Given the description of an element on the screen output the (x, y) to click on. 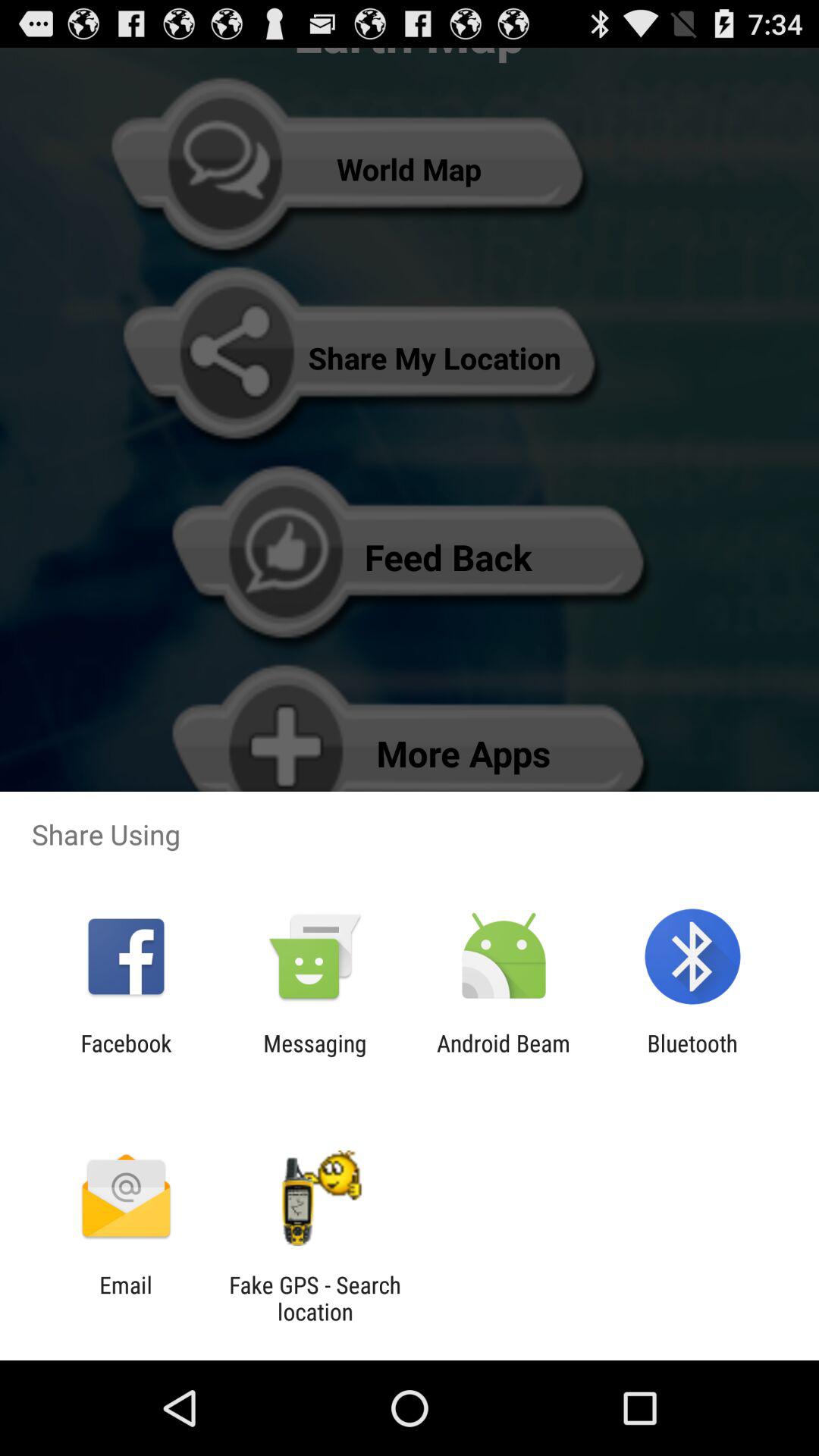
open icon next to messaging (503, 1056)
